Given the description of an element on the screen output the (x, y) to click on. 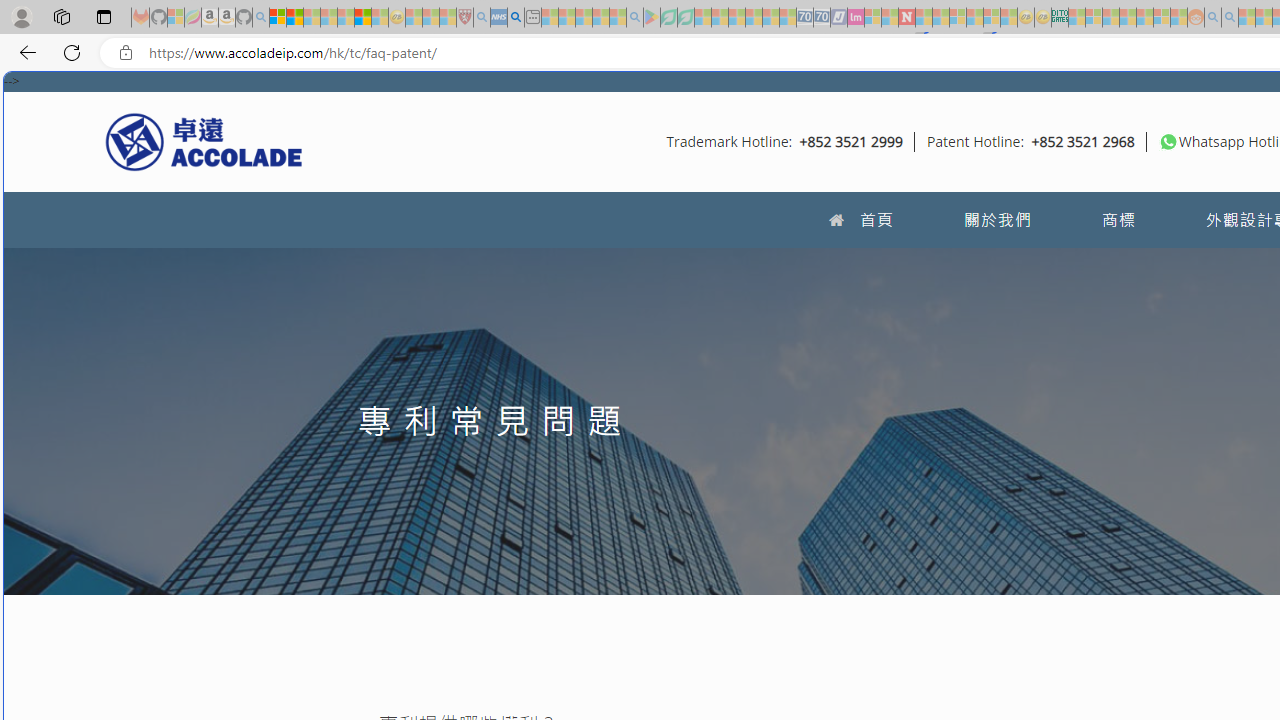
utah sues federal government - Search (515, 17)
